Given the description of an element on the screen output the (x, y) to click on. 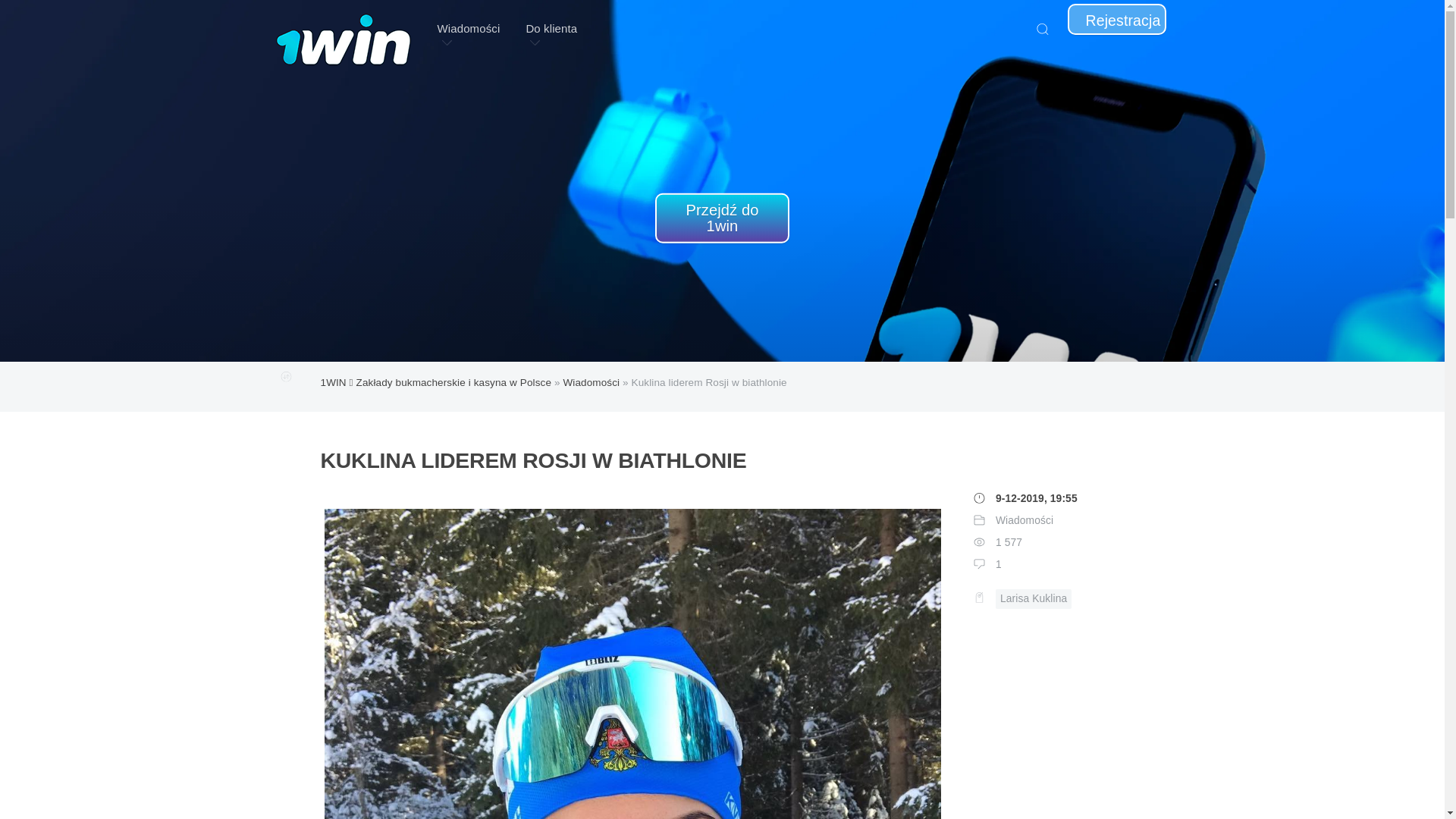
Szukaj na stronie Element type: hover (1041, 28)
Do klienta Element type: text (550, 28)
9-12-2019, 19:55 Element type: text (1036, 498)
1WIN oficjalna strona bukmachera 1win Element type: hover (343, 28)
1 Element type: text (998, 564)
Rejestracja Element type: text (1116, 18)
Larisa Kuklina Element type: text (1033, 599)
